Given the description of an element on the screen output the (x, y) to click on. 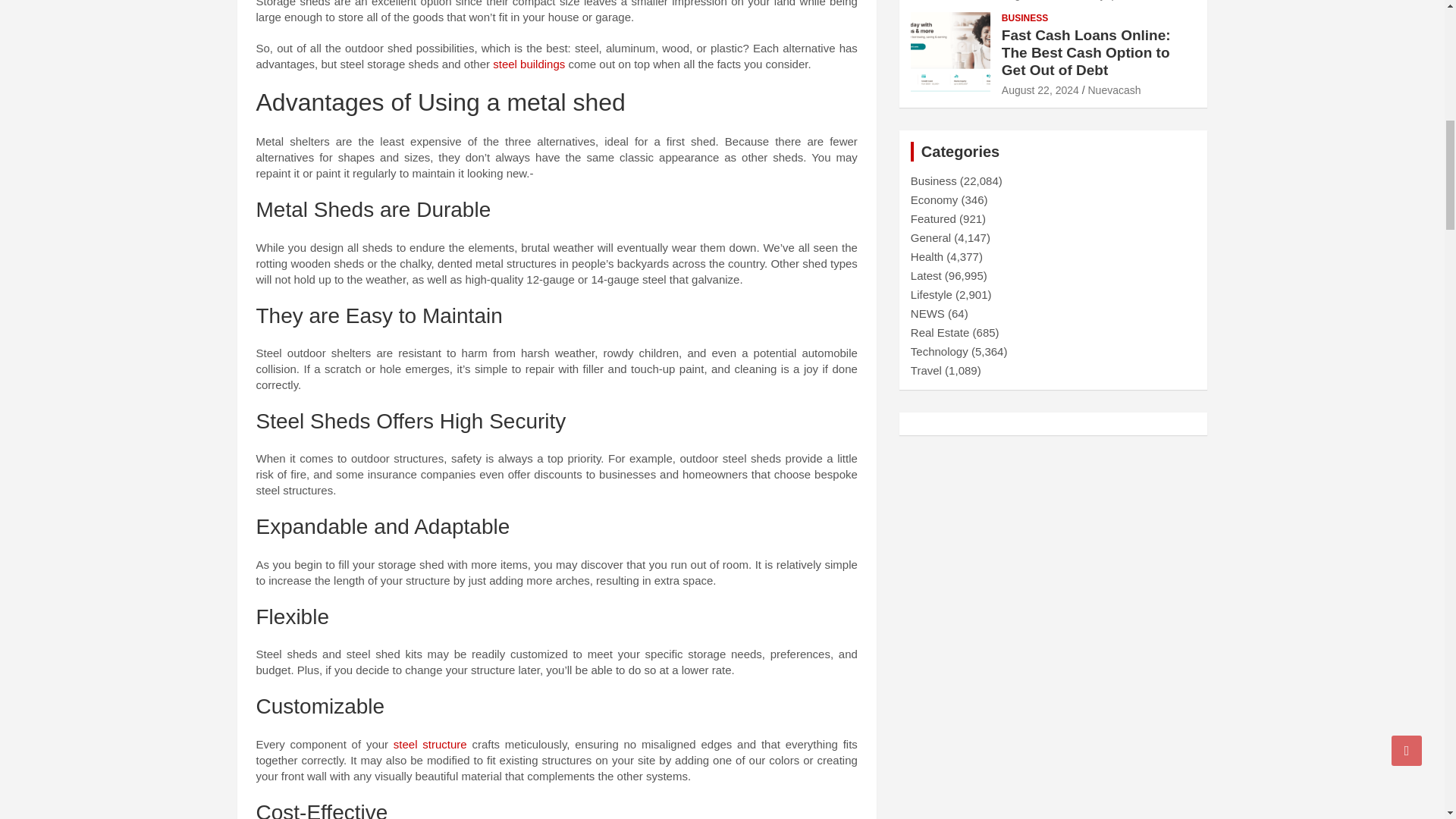
steel buildings (528, 63)
steel structure (430, 743)
